Given the description of an element on the screen output the (x, y) to click on. 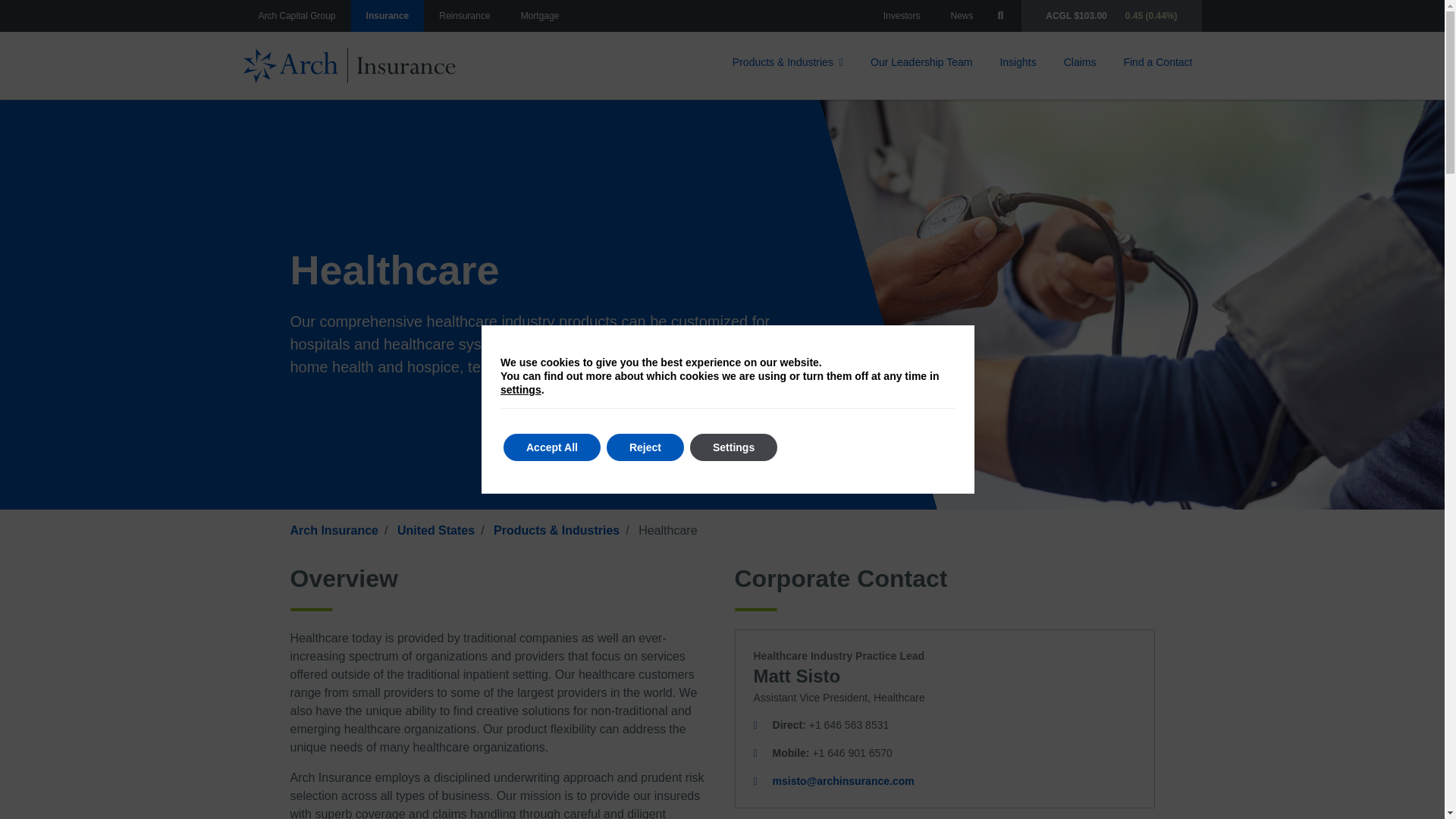
Our Leadership Team (921, 64)
Mortgage (540, 15)
News (961, 15)
Insurance (387, 15)
Find a Contact (1157, 64)
Arch Capital Group (296, 15)
Reinsurance (464, 15)
Investors (901, 15)
